Given the description of an element on the screen output the (x, y) to click on. 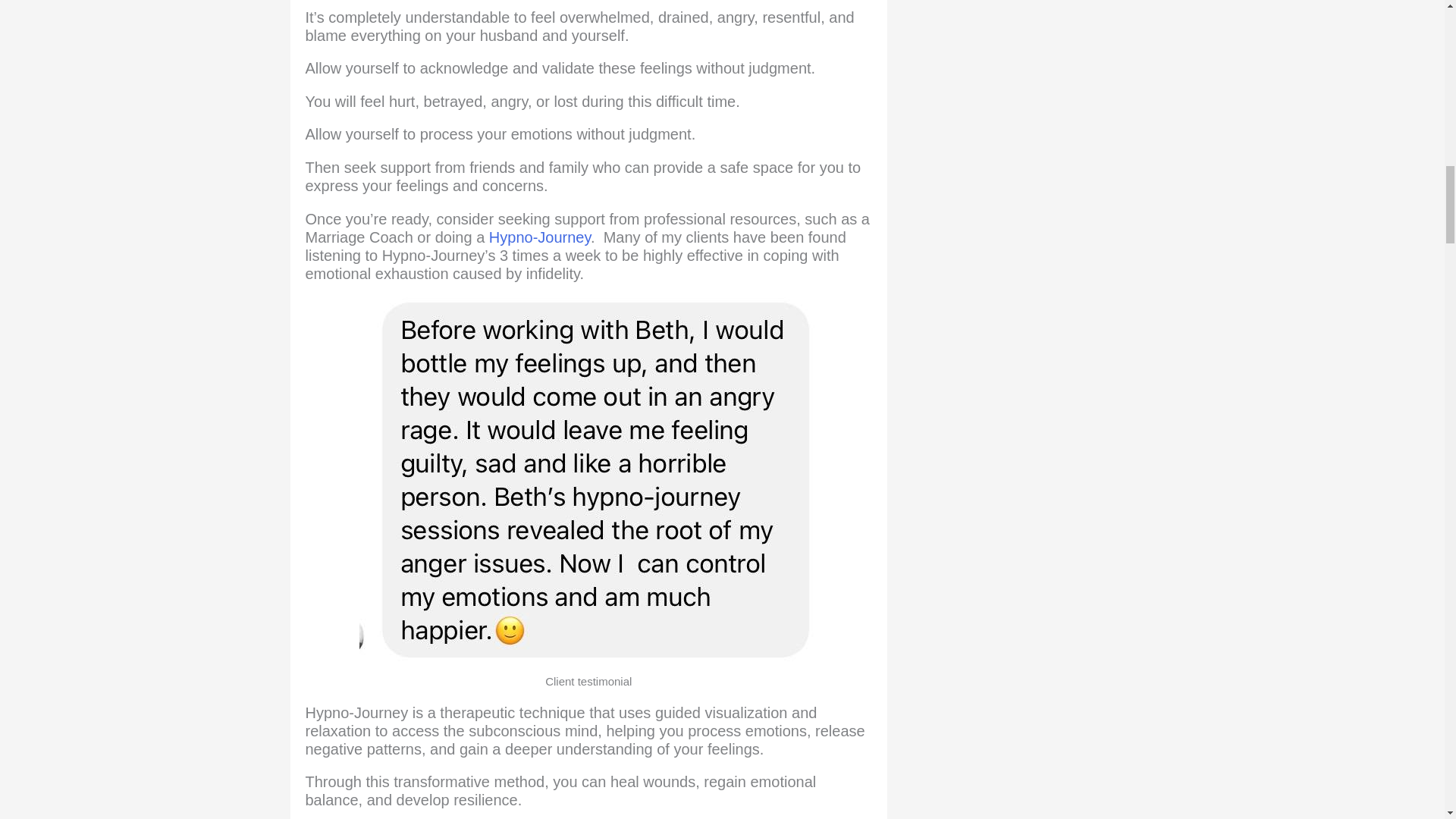
Hypno-Journey (540, 237)
